Given the description of an element on the screen output the (x, y) to click on. 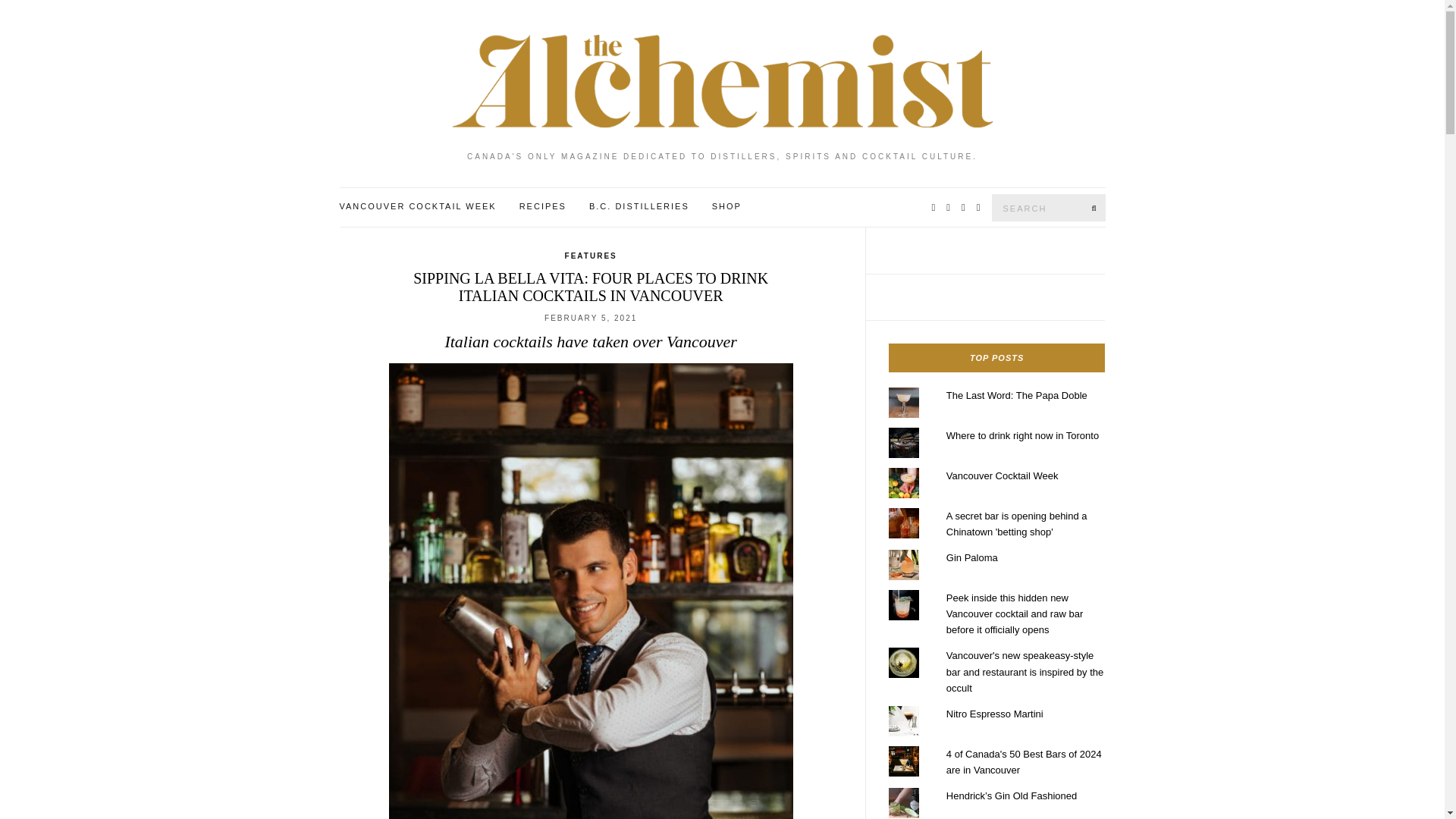
Gin Paloma (971, 557)
VANCOUVER COCKTAIL WEEK (417, 206)
B.C. DISTILLERIES (638, 206)
FEATURES (590, 256)
Where to drink right now in Toronto (1022, 435)
RECIPES (542, 206)
Nitro Espresso Martini (994, 713)
SHOP (726, 206)
